Given the description of an element on the screen output the (x, y) to click on. 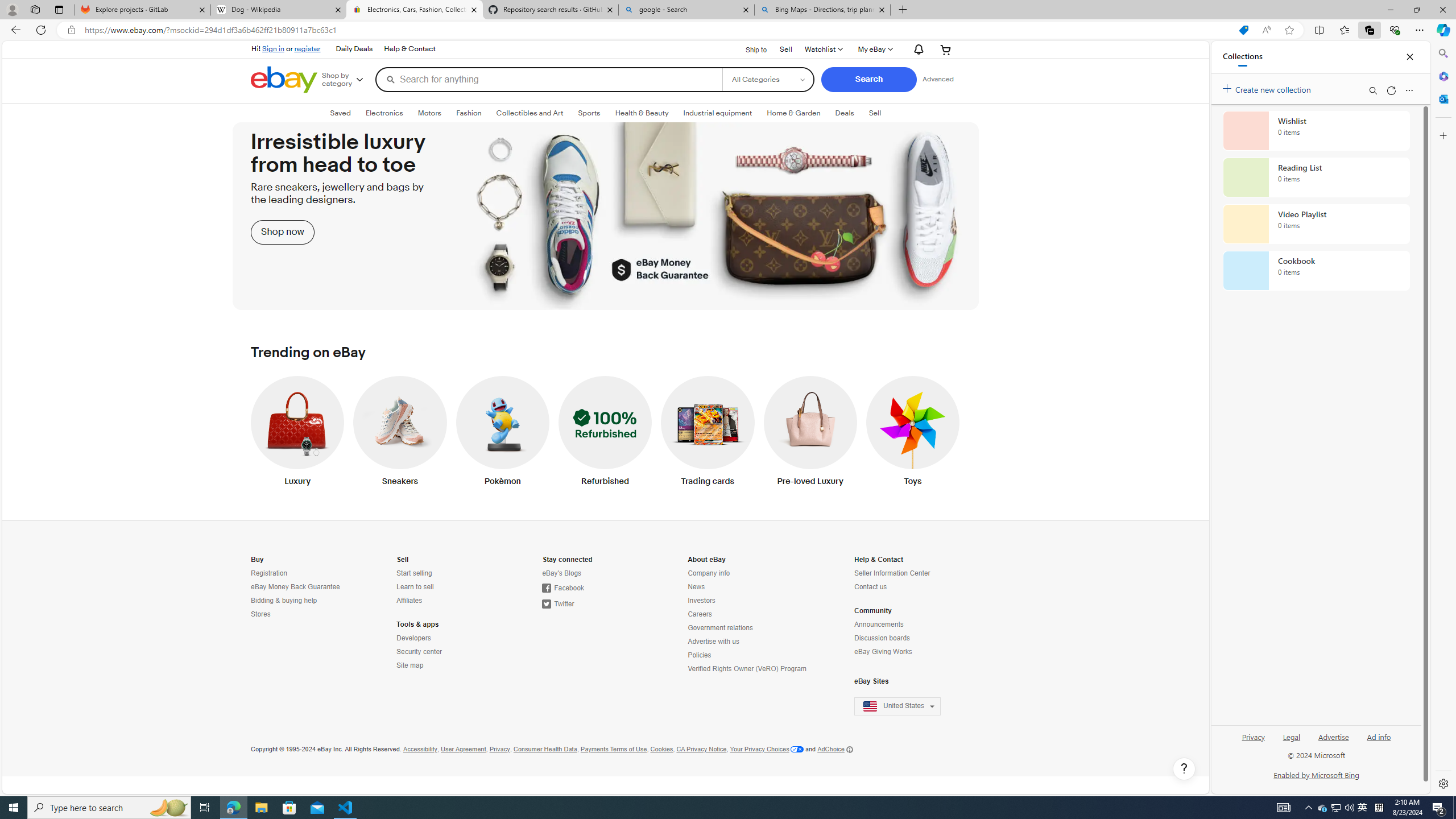
Your Privacy Choices (766, 749)
My eBay (874, 49)
Seller Information Center (892, 573)
Collectibles and Art (529, 112)
Start selling (414, 573)
Industrial equipmentExpand: Industrial equipment (717, 112)
Luxury (297, 433)
Pre-loved Luxury (809, 433)
